Given the description of an element on the screen output the (x, y) to click on. 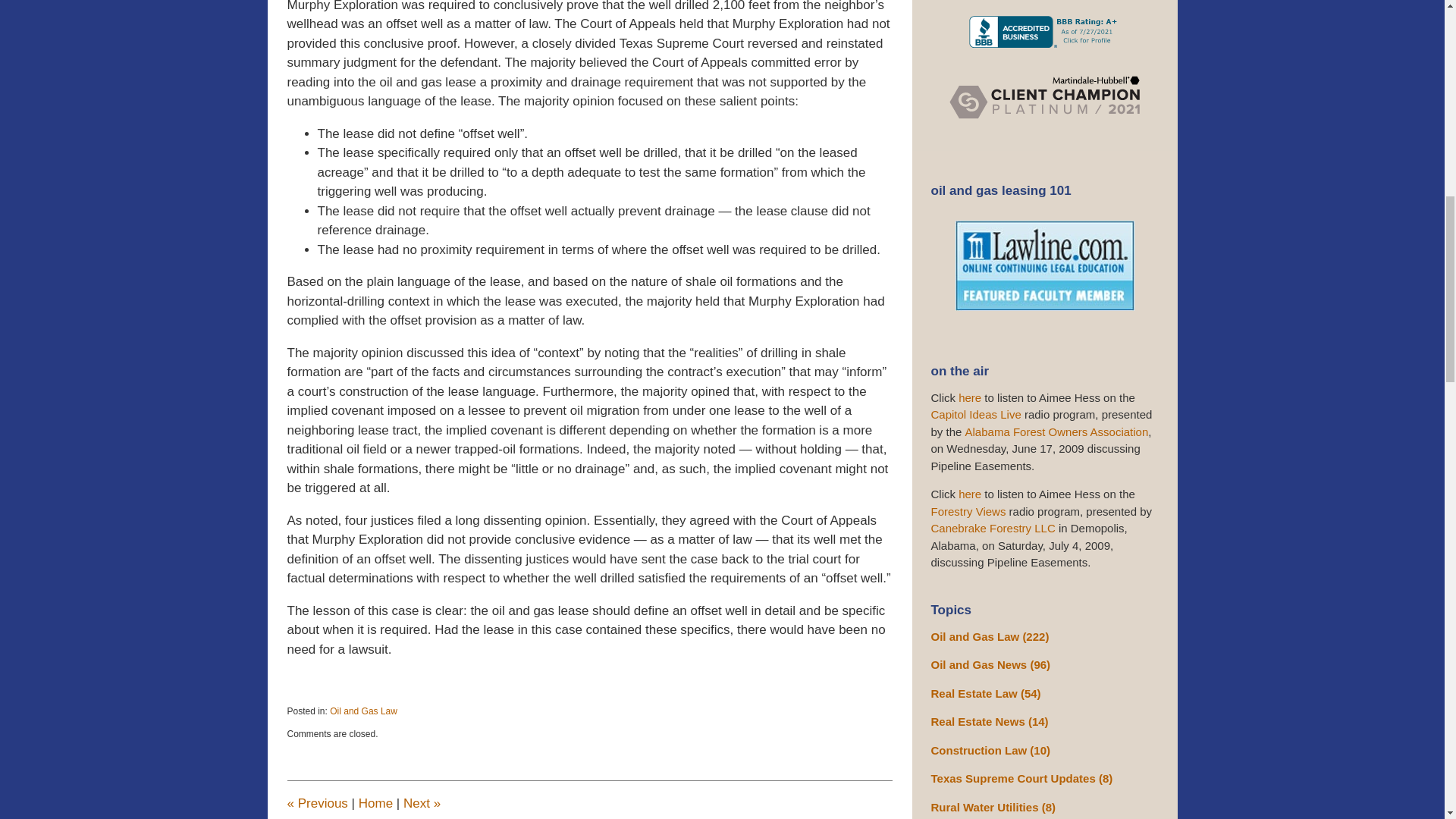
View all posts in Oil and Gas Law (363, 710)
Home (375, 803)
Oil and Gas Law (363, 710)
